Given the description of an element on the screen output the (x, y) to click on. 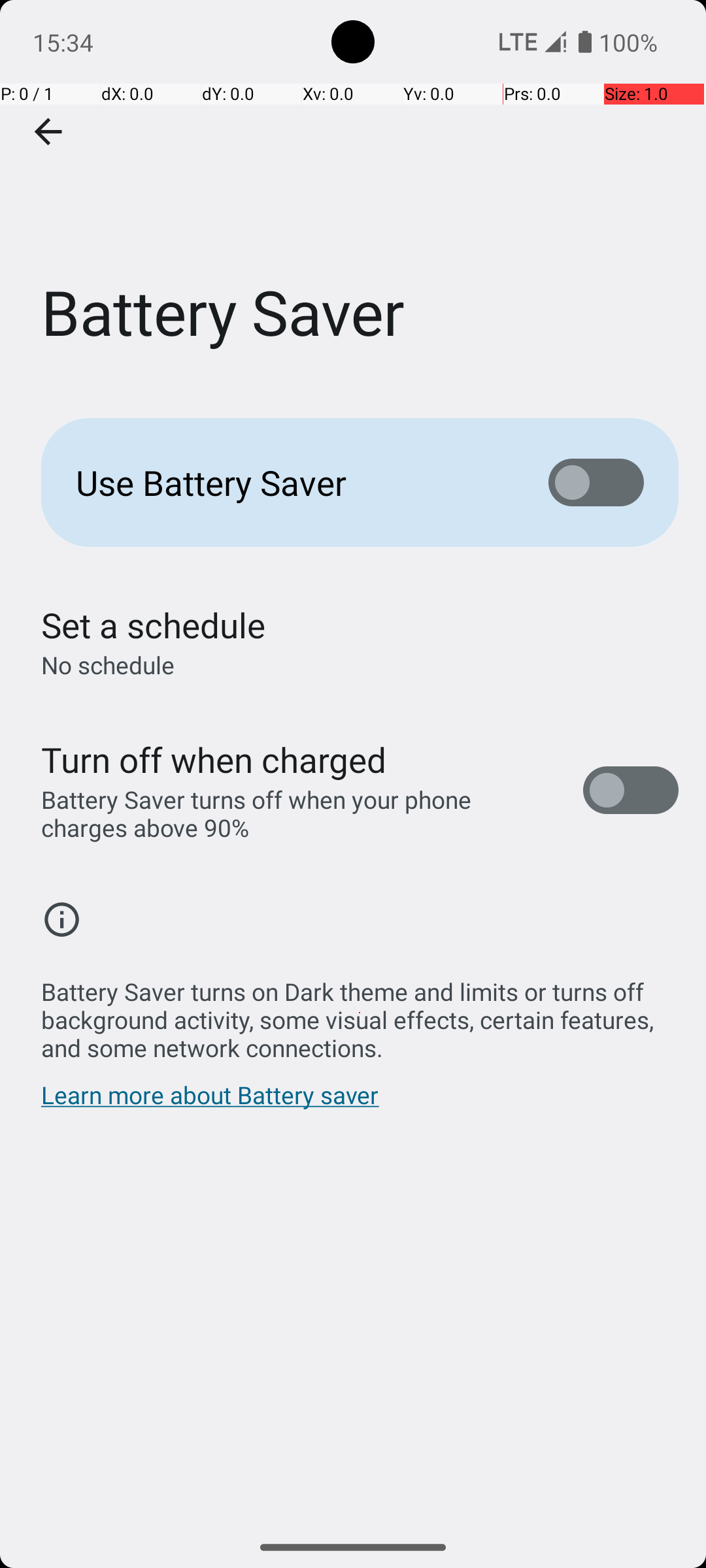
Use Battery Saver Element type: android.widget.TextView (291, 482)
Turn off when charged Element type: android.widget.TextView (213, 759)
Battery Saver turns off when your phone charges above 90% Element type: android.widget.TextView (298, 813)
Battery Saver turns on Dark theme and limits or turns off background activity, some visual effects, certain features, and some network connections. Element type: android.widget.TextView (359, 1012)
Learn more about Battery saver Element type: android.widget.TextView (210, 1101)
